Given the description of an element on the screen output the (x, y) to click on. 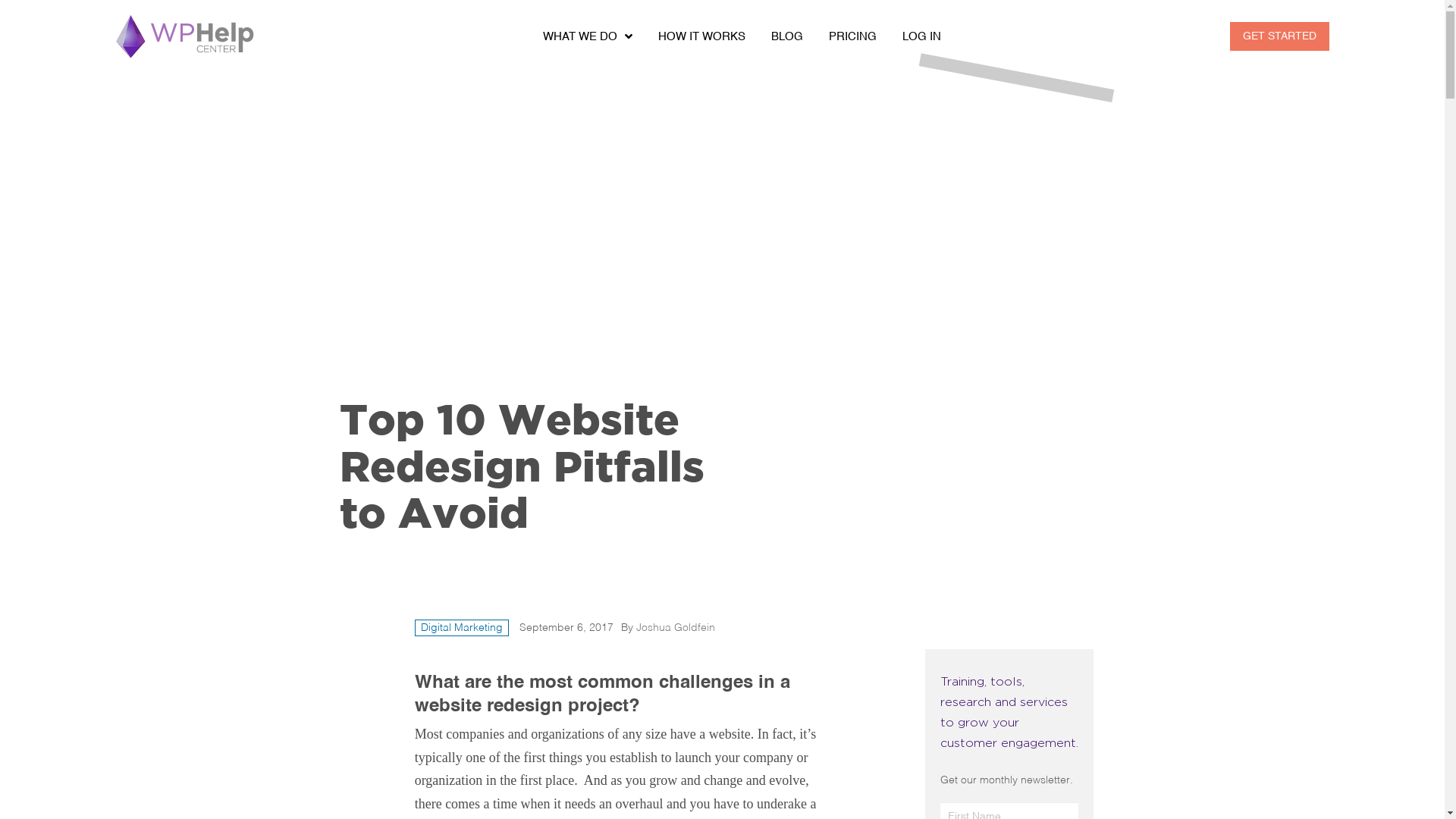
PRICING Element type: text (852, 36)
Digital Marketing Element type: text (461, 627)
WHAT WE DO Element type: text (586, 36)
LOG IN Element type: text (920, 36)
HOW IT WORKS Element type: text (700, 36)
GET STARTED Element type: text (1279, 35)
Joshua Goldfein Element type: text (675, 627)
BLOG Element type: text (786, 36)
